Given the description of an element on the screen output the (x, y) to click on. 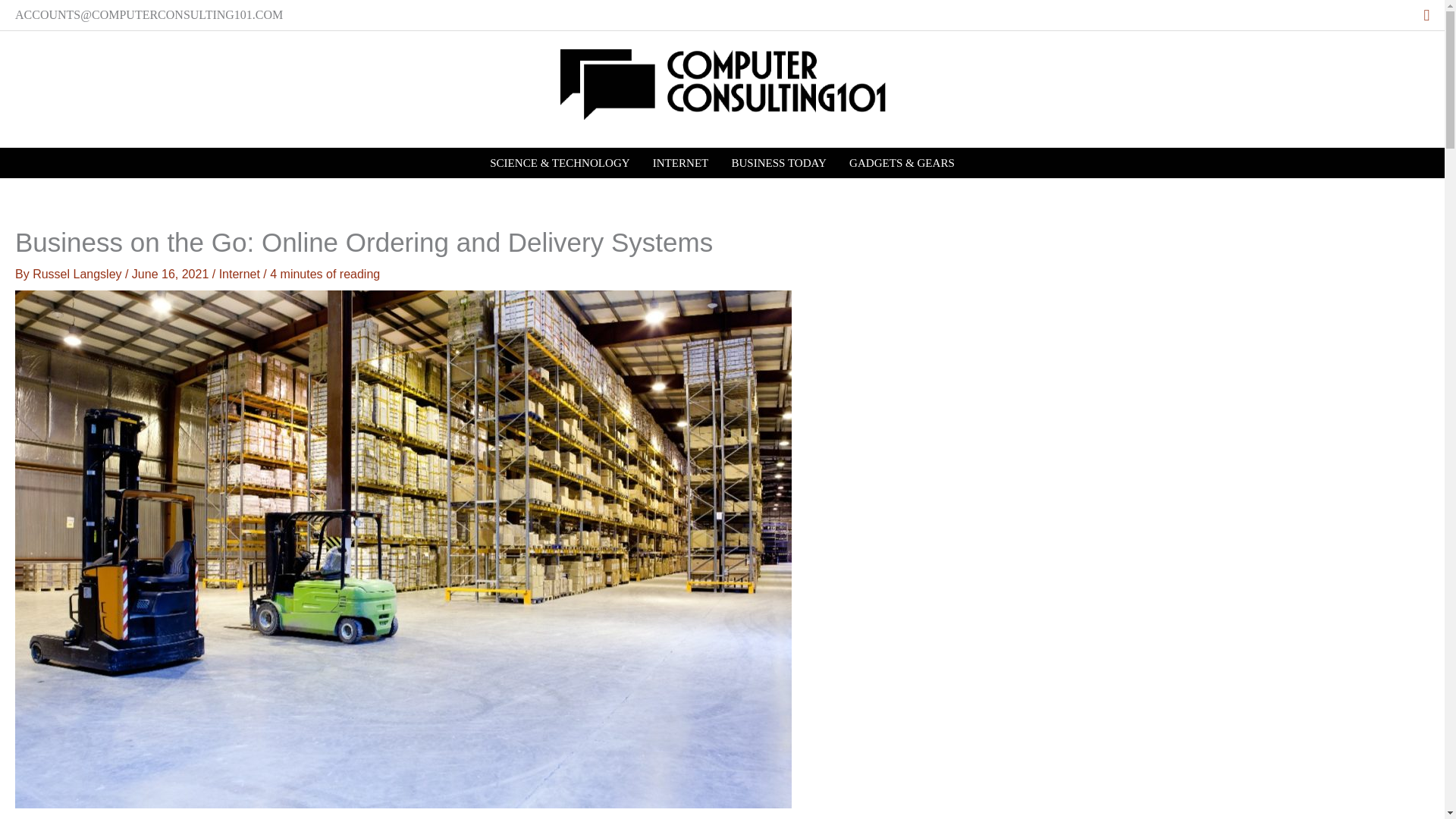
Russel Langsley (78, 273)
View all posts by Russel Langsley (78, 273)
INTERNET (681, 163)
Internet (239, 273)
BUSINESS TODAY (778, 163)
